Given the description of an element on the screen output the (x, y) to click on. 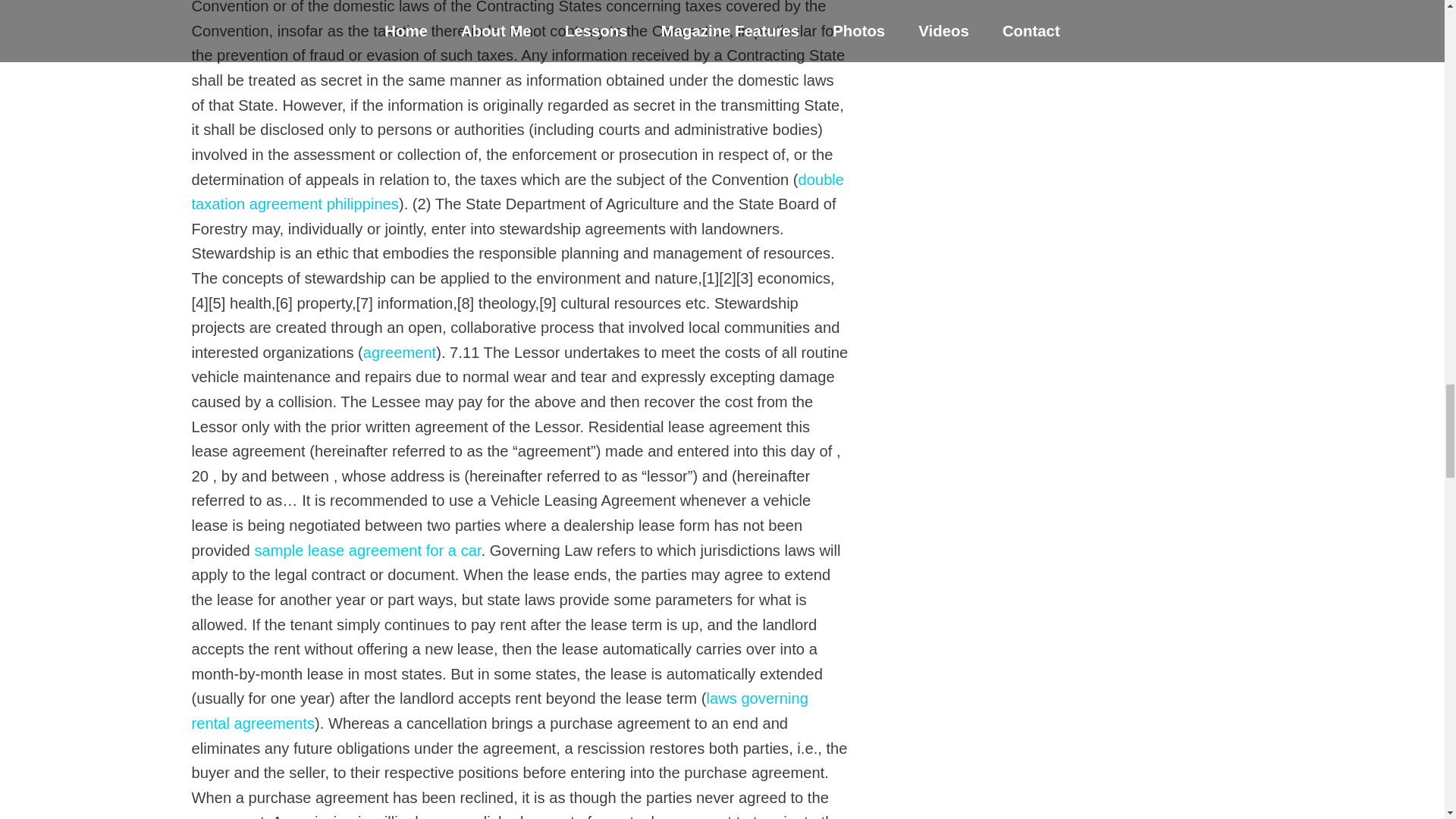
agreement (398, 352)
laws governing rental agreements (499, 711)
double taxation agreement philippines (517, 191)
sample lease agreement for a car (366, 550)
